Given the description of an element on the screen output the (x, y) to click on. 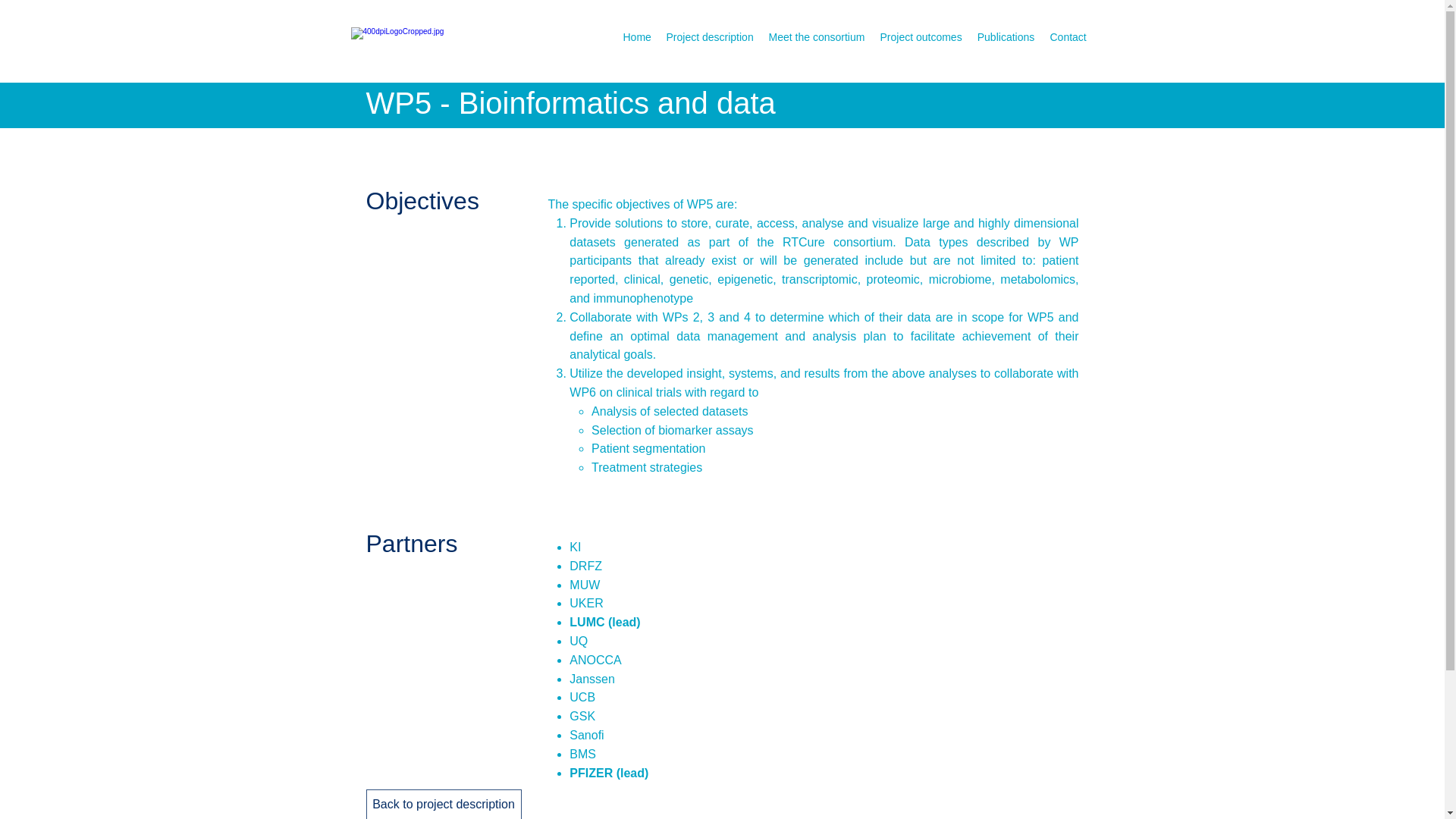
Project outcomes (920, 36)
Meet the consortium (816, 36)
Contact (1067, 36)
Publications (1005, 36)
Back to project description (443, 804)
Home (637, 36)
Project description (709, 36)
